Given the description of an element on the screen output the (x, y) to click on. 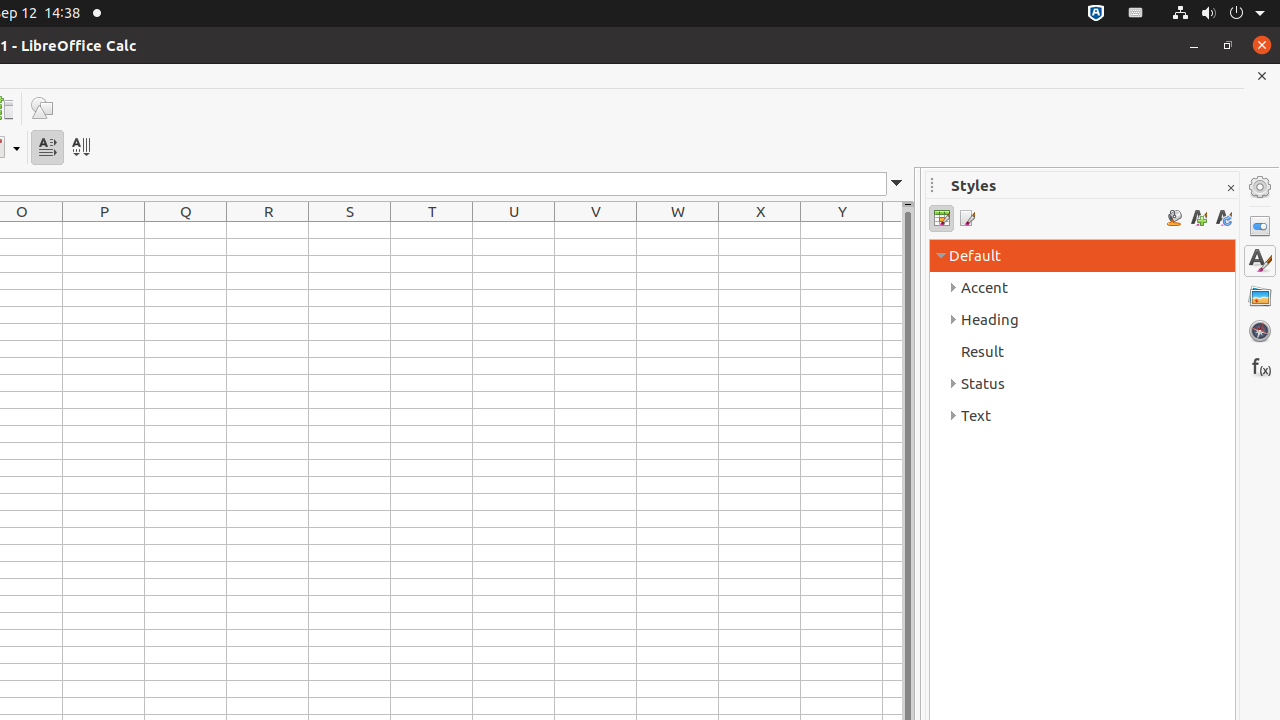
:1.21/StatusNotifierItem Element type: menu (1136, 13)
W1 Element type: table-cell (678, 230)
Close Sidebar Deck Element type: push-button (1230, 188)
Update Style Element type: push-button (1223, 218)
Y1 Element type: table-cell (842, 230)
